Given the description of an element on the screen output the (x, y) to click on. 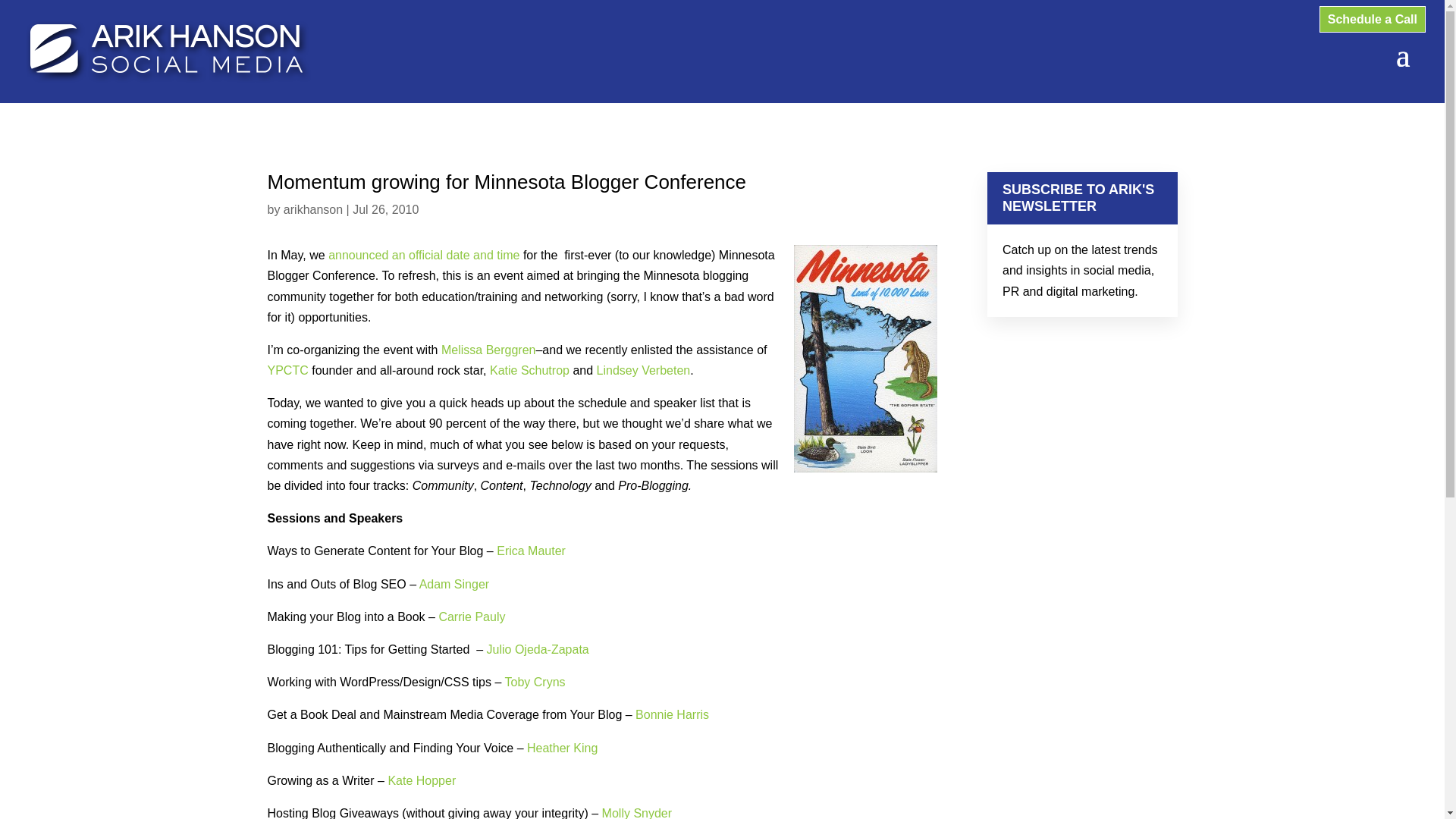
Posts by arikhanson (312, 209)
YPCTC (286, 369)
Melissa Berggren (488, 349)
Schedule a Call (1371, 19)
Julio Ojeda-Zapata (537, 649)
Heather King (561, 748)
Toby Cryns (535, 681)
Adam Singer (454, 584)
arikhanson (312, 209)
Kate Hopper (421, 780)
